Given the description of an element on the screen output the (x, y) to click on. 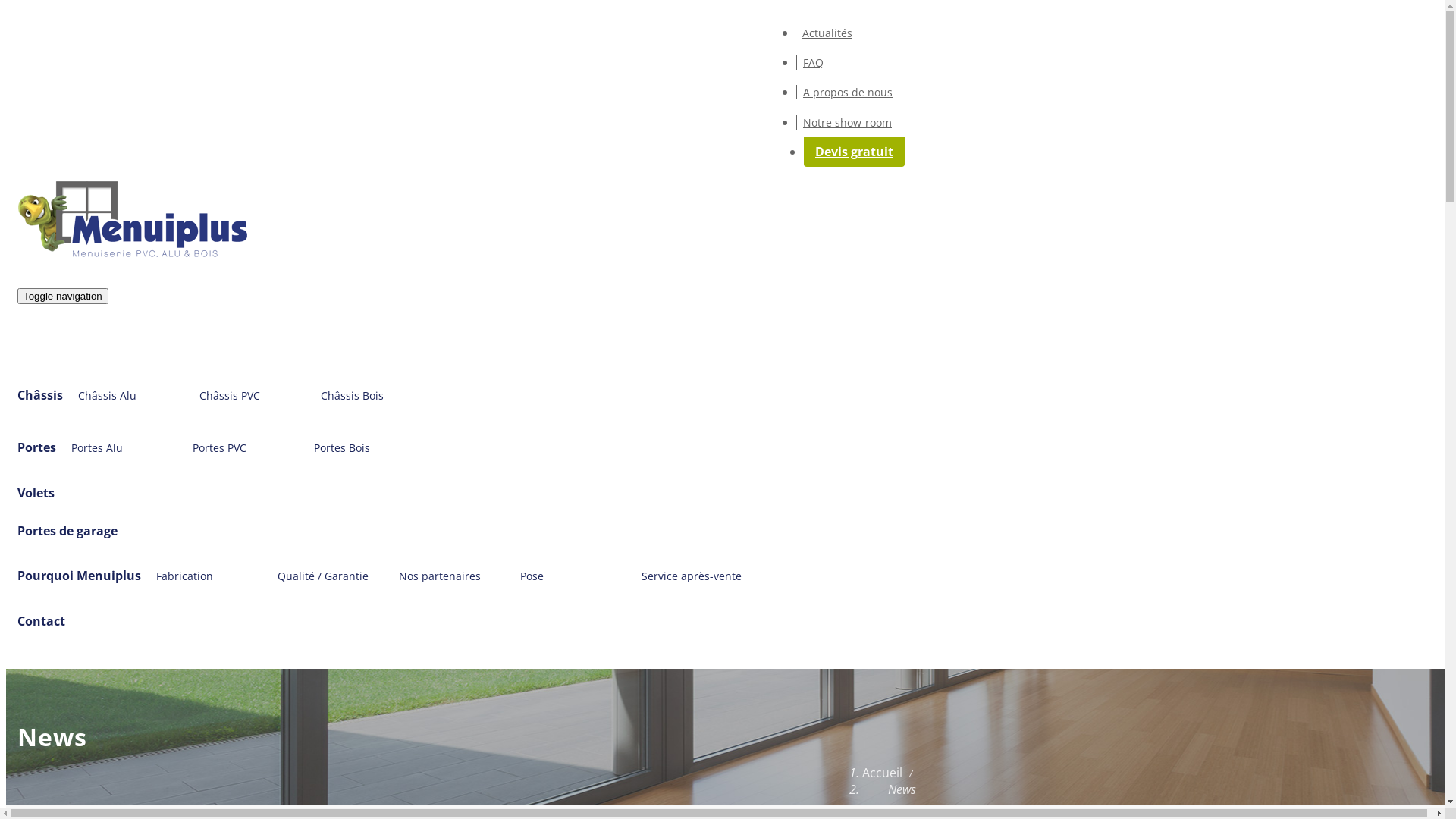
Accueil Element type: text (882, 772)
Portes de garage Element type: text (67, 530)
Toggle navigation Element type: text (62, 296)
Portes Alu Element type: text (116, 447)
Pose Element type: text (565, 575)
Portes Bois Element type: text (359, 447)
Portes PVC Element type: text (237, 447)
Pourquoi Menuiplus Element type: text (79, 575)
Devis gratuit Element type: text (853, 151)
Aller au contenu principal Element type: text (6, 6)
FAQ Element type: text (812, 62)
Notre show-room Element type: text (846, 122)
Volets Element type: text (35, 492)
Nos partenaires Element type: text (444, 575)
Fabrication Element type: text (201, 575)
Portes Element type: text (36, 447)
Accueil Element type: hover (138, 221)
A propos de nous Element type: text (847, 91)
Contact Element type: text (41, 621)
